Given the description of an element on the screen output the (x, y) to click on. 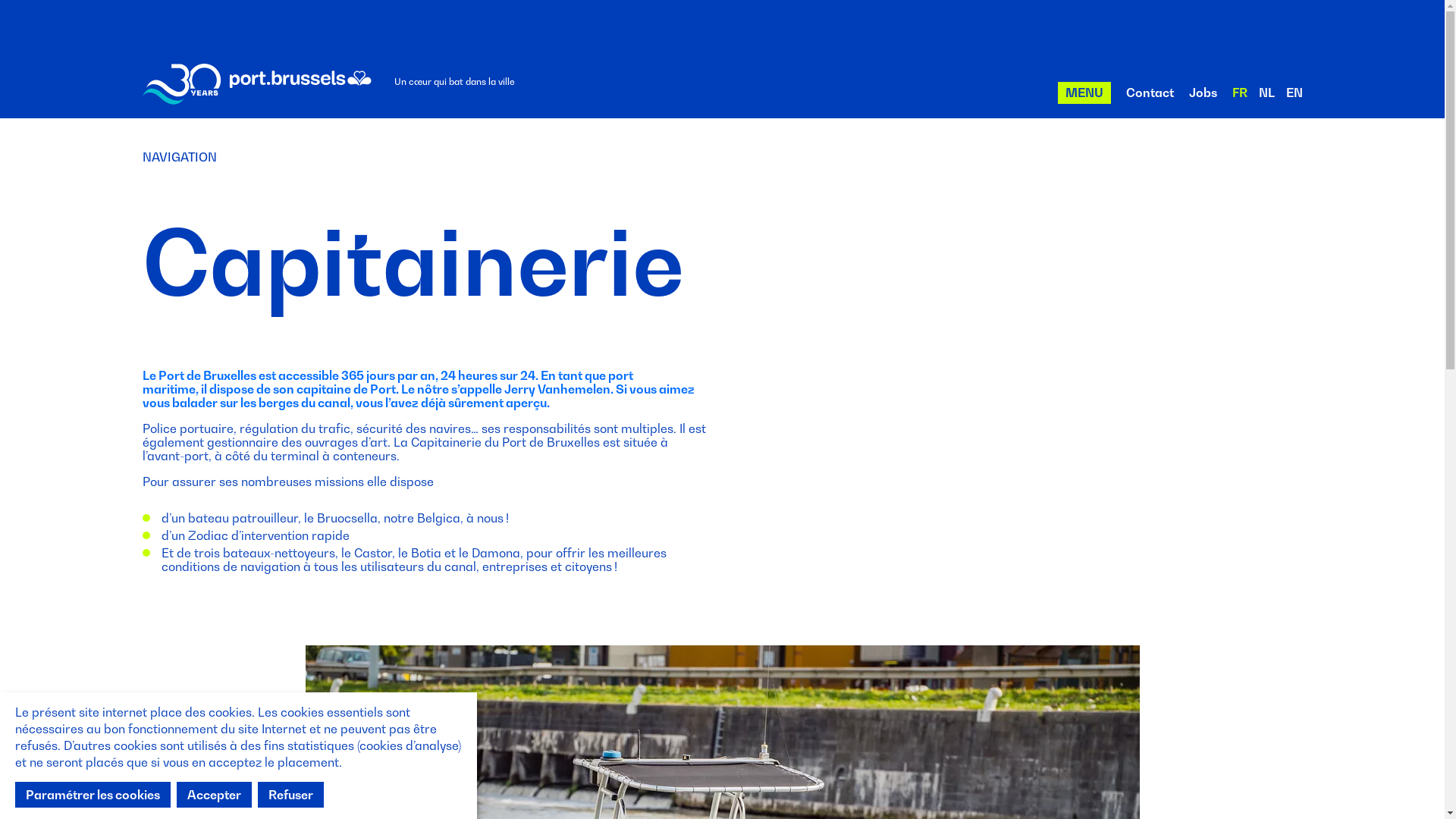
NAVIGATION Element type: text (179, 156)
FR Element type: text (1238, 92)
Contact Element type: text (1149, 92)
EN Element type: text (1294, 92)
NL Element type: text (1266, 92)
Refuser Element type: text (290, 794)
Jobs Element type: text (1203, 92)
Accepter Element type: text (213, 794)
MENU Element type: text (1083, 92)
Home Element type: hover (257, 83)
